Given the description of an element on the screen output the (x, y) to click on. 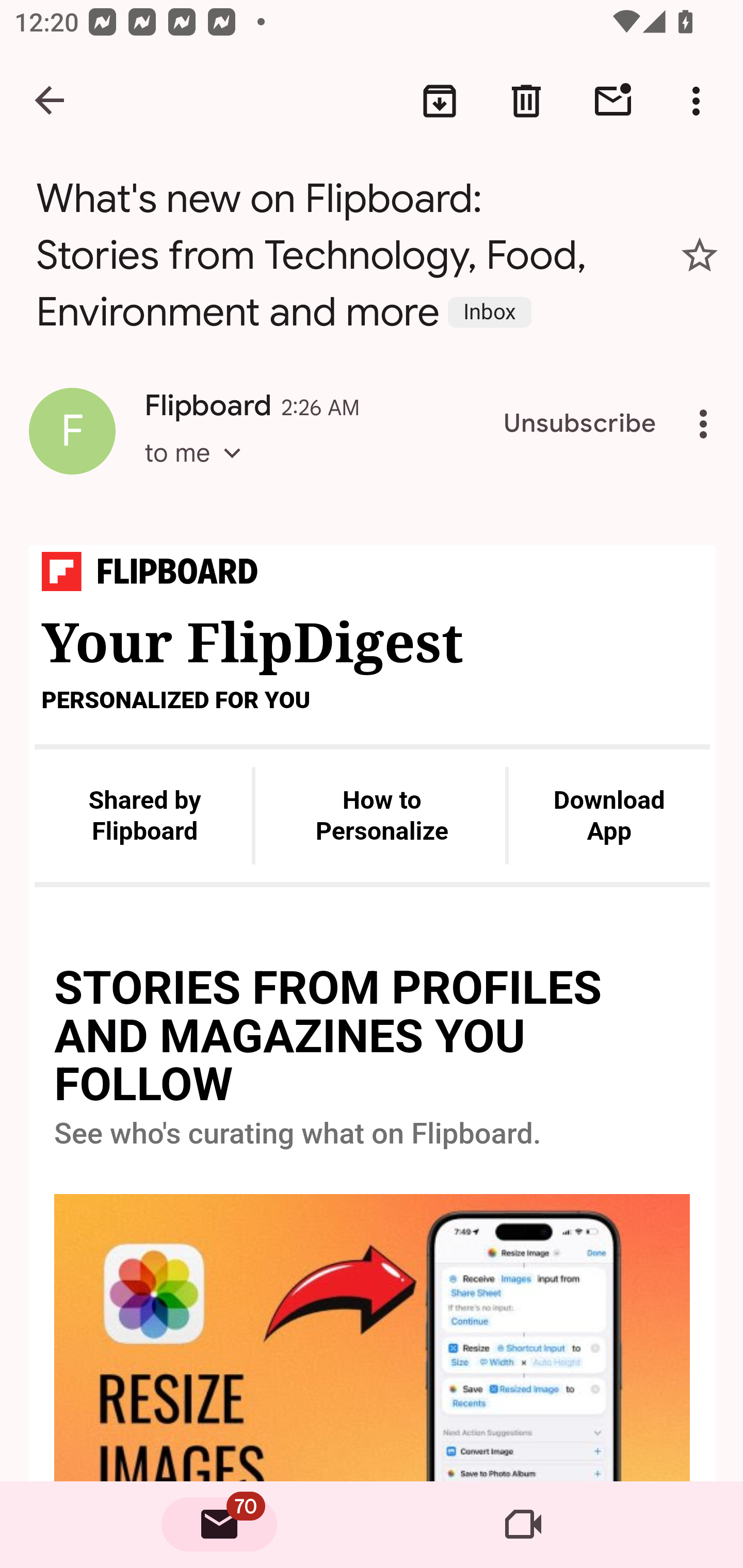
Navigate up (50, 101)
Archive (439, 101)
Delete (525, 101)
Mark unread (612, 101)
More options (699, 101)
Add star (699, 254)
Unsubscribe (579, 424)
More options (706, 424)
Show contact information for Flipboard (71, 431)
to me (199, 471)
Meet (523, 1524)
